Given the description of an element on the screen output the (x, y) to click on. 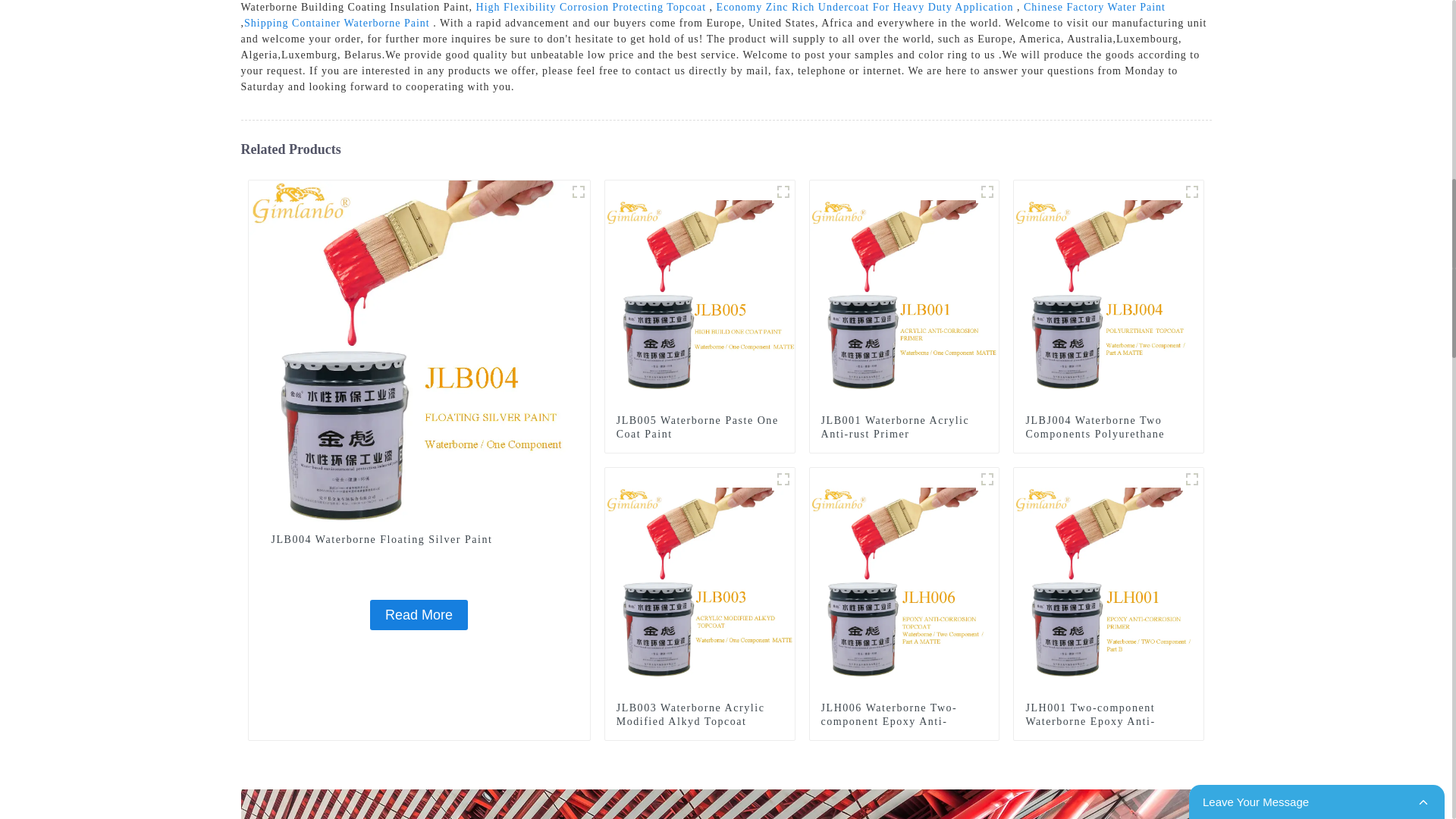
JLB001 Waterborne Acrylic Anti-rust Primer (904, 427)
High Flexibility Corrosion Protecting Topcoat (591, 7)
JLB003 (782, 478)
JLB003 Waterborne Acrylic Modified Alkyd Topcoat (699, 581)
JLB005 (782, 191)
Read More (418, 614)
JLB001 Waterborne Acrylic Anti-rust Primer (904, 427)
JLB005 Waterborne Paste One Coat Paint (699, 294)
Chinese Factory Water Paint (1094, 7)
JLBJ004 (1192, 191)
